Given the description of an element on the screen output the (x, y) to click on. 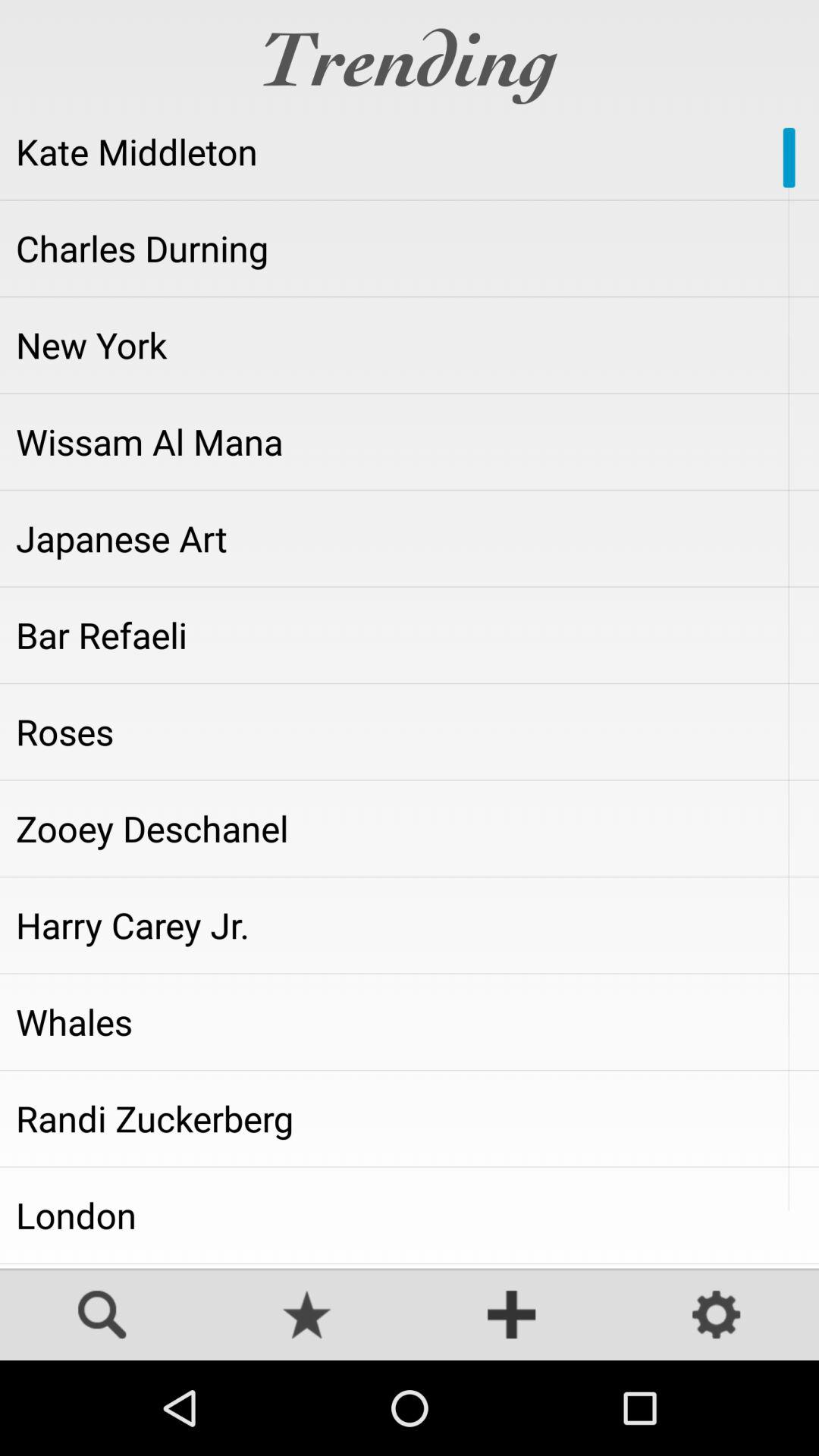
turn off icon above lucy liu item (409, 1215)
